Given the description of an element on the screen output the (x, y) to click on. 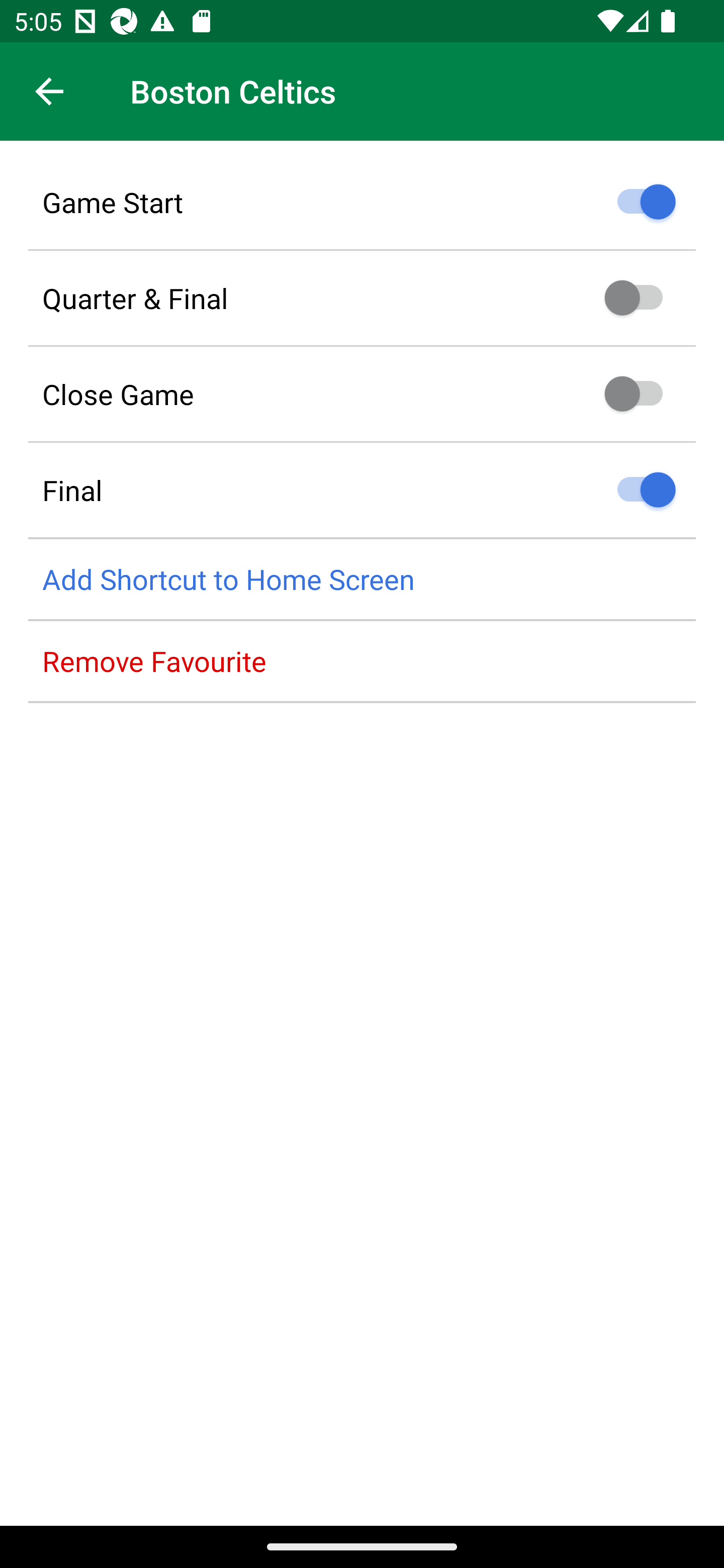
Navigate up (49, 91)
Add Shortcut to Home Screen (362, 579)
Remove Favourite (362, 661)
